Given the description of an element on the screen output the (x, y) to click on. 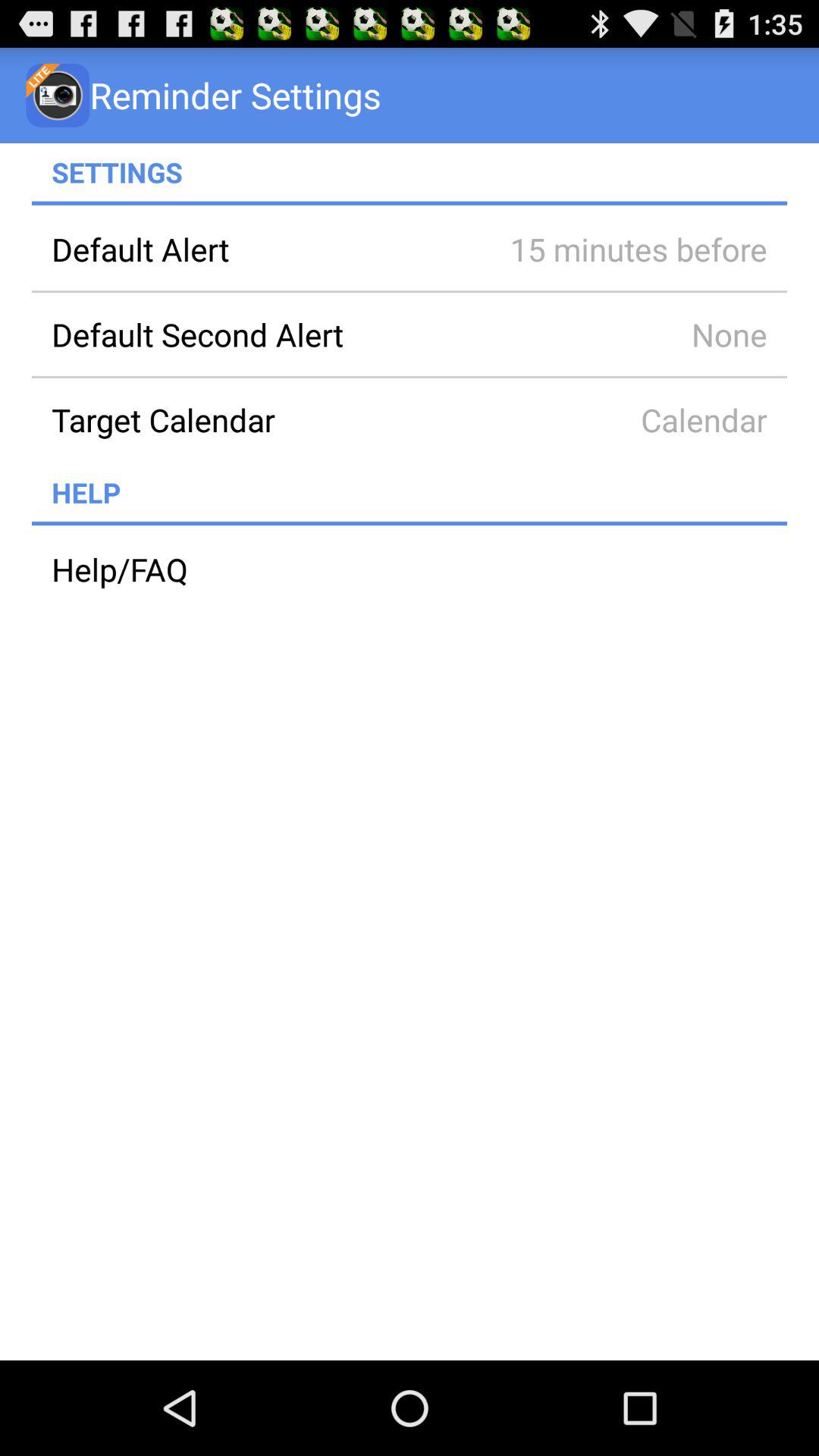
turn off app below help (409, 523)
